Given the description of an element on the screen output the (x, y) to click on. 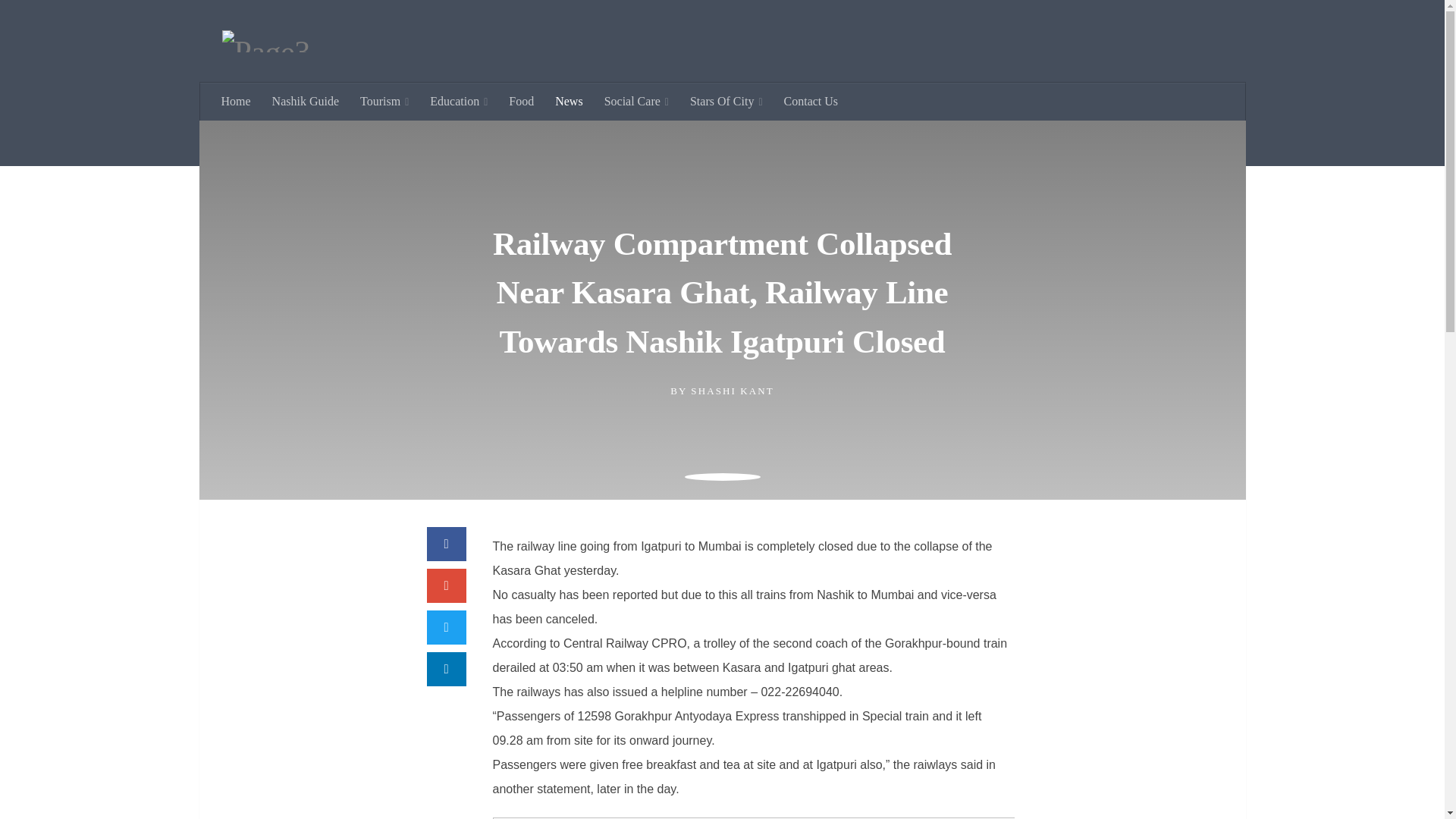
Home (236, 125)
Nashik Guide (305, 125)
Education (458, 125)
Social Care (636, 125)
News (568, 125)
Skip to content (59, 20)
Stars Of City (726, 125)
Food (520, 125)
Tourism (384, 125)
